Given the description of an element on the screen output the (x, y) to click on. 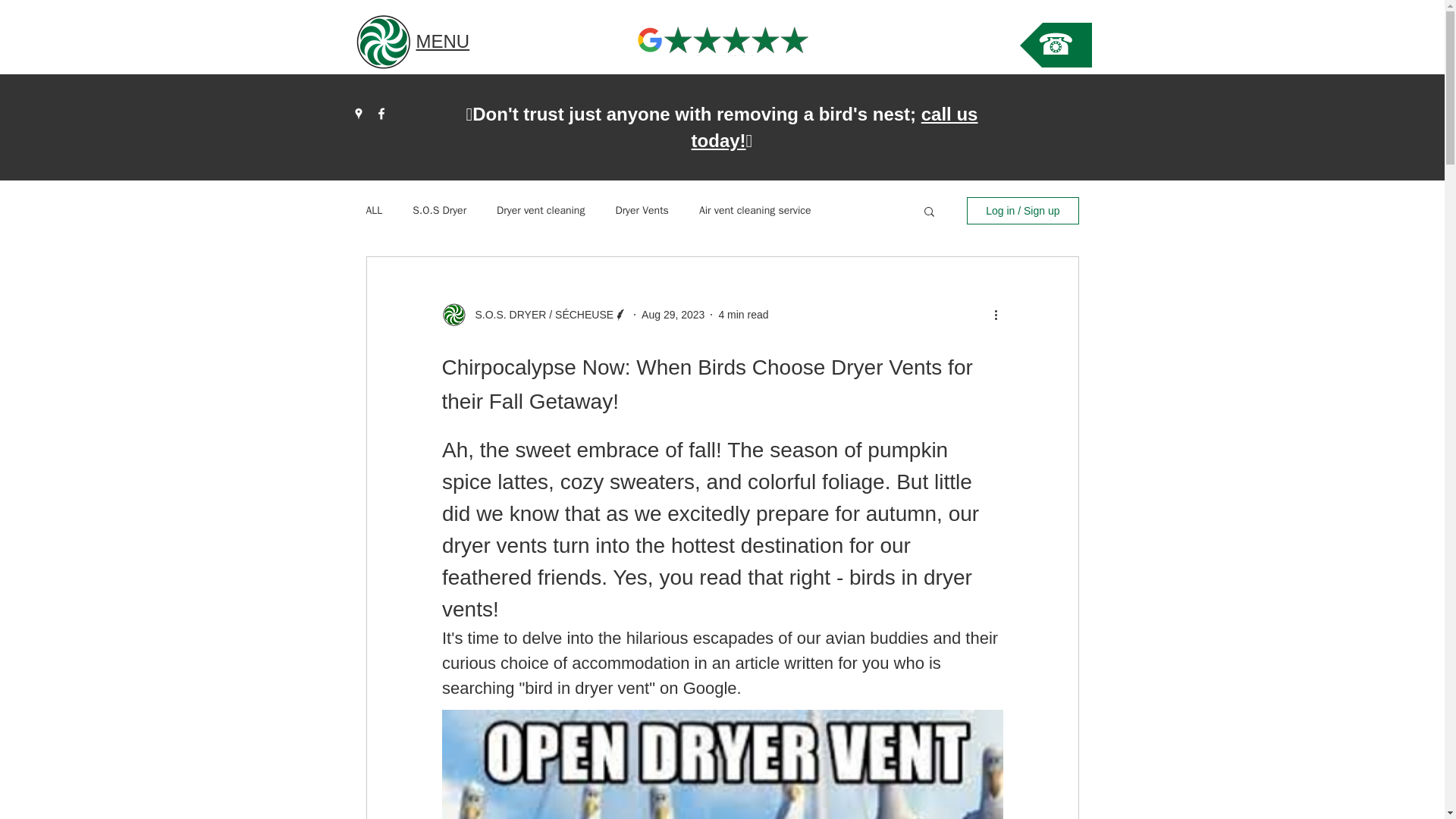
call us today! (834, 127)
4 min read (742, 314)
S.O.S Dryer (438, 210)
Dryer Vents (641, 210)
Air vent cleaning service (754, 210)
ALL (373, 210)
MENU (441, 41)
Aug 29, 2023 (673, 314)
Dryer vent cleaning (540, 210)
